Given the description of an element on the screen output the (x, y) to click on. 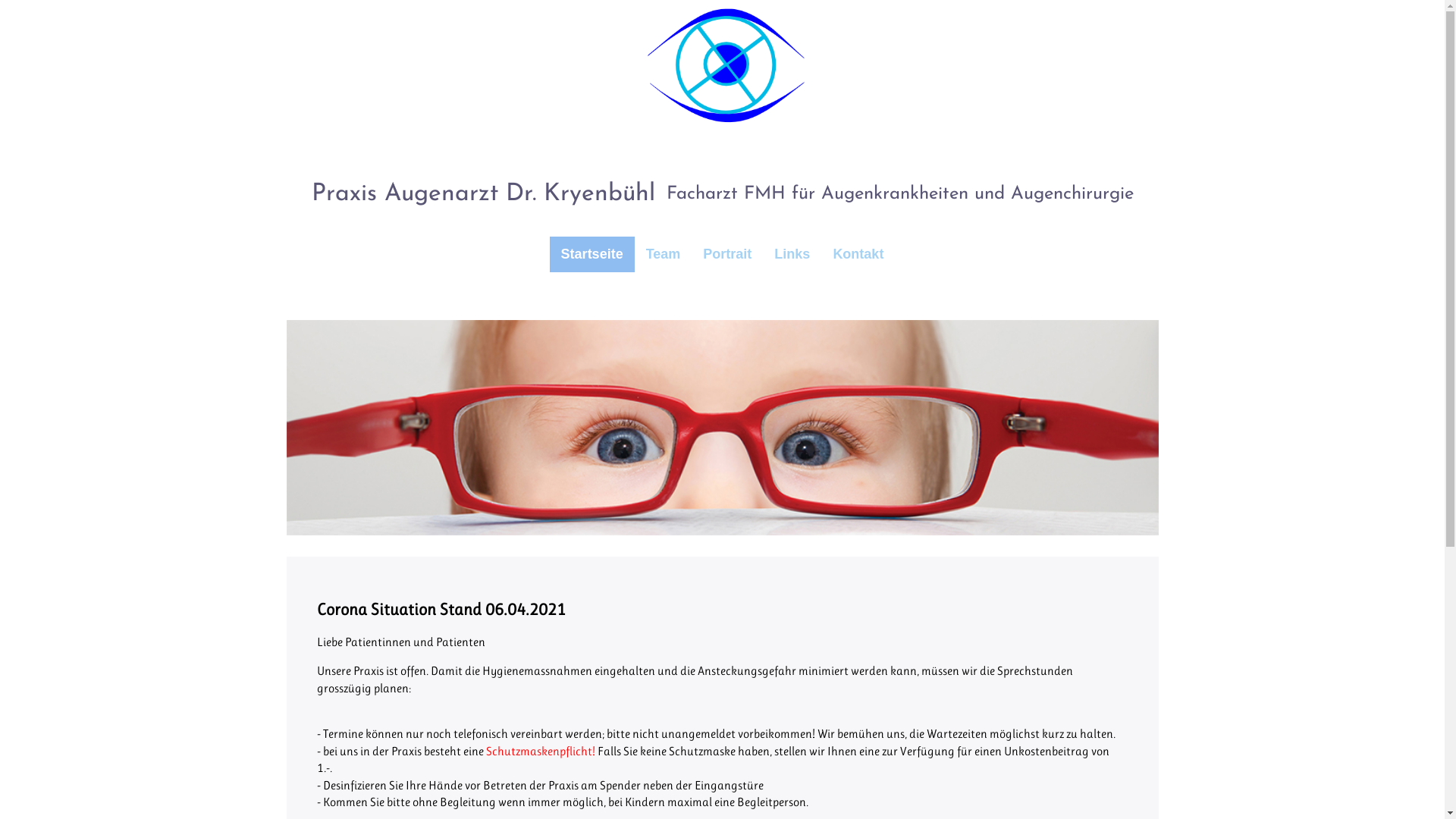
Team Element type: text (663, 254)
Links Element type: text (791, 254)
Portrait Element type: text (726, 254)
Kontakt Element type: text (857, 254)
Startseite Element type: text (591, 254)
